Given the description of an element on the screen output the (x, y) to click on. 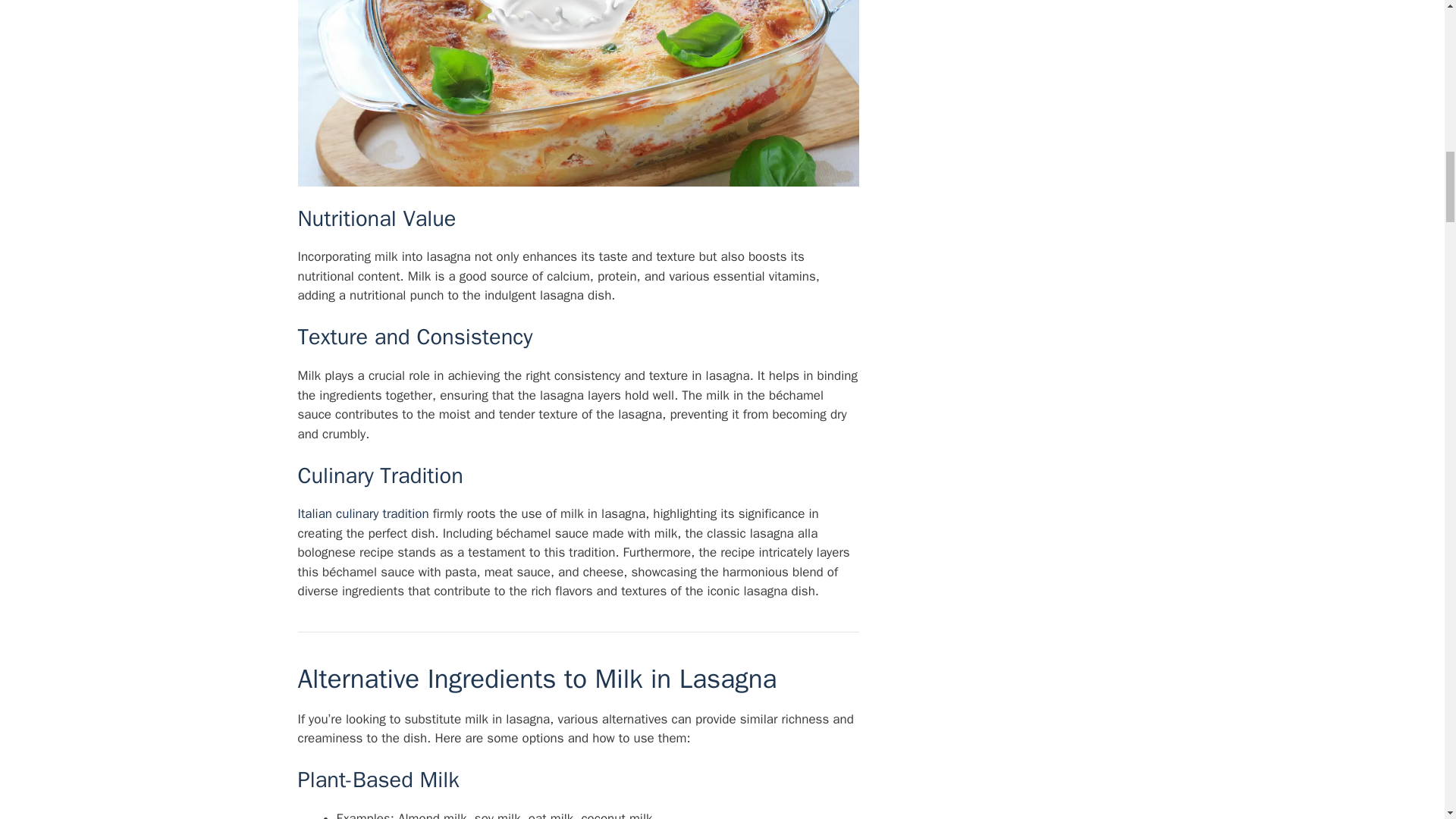
Italian culinary tradition (362, 513)
